Given the description of an element on the screen output the (x, y) to click on. 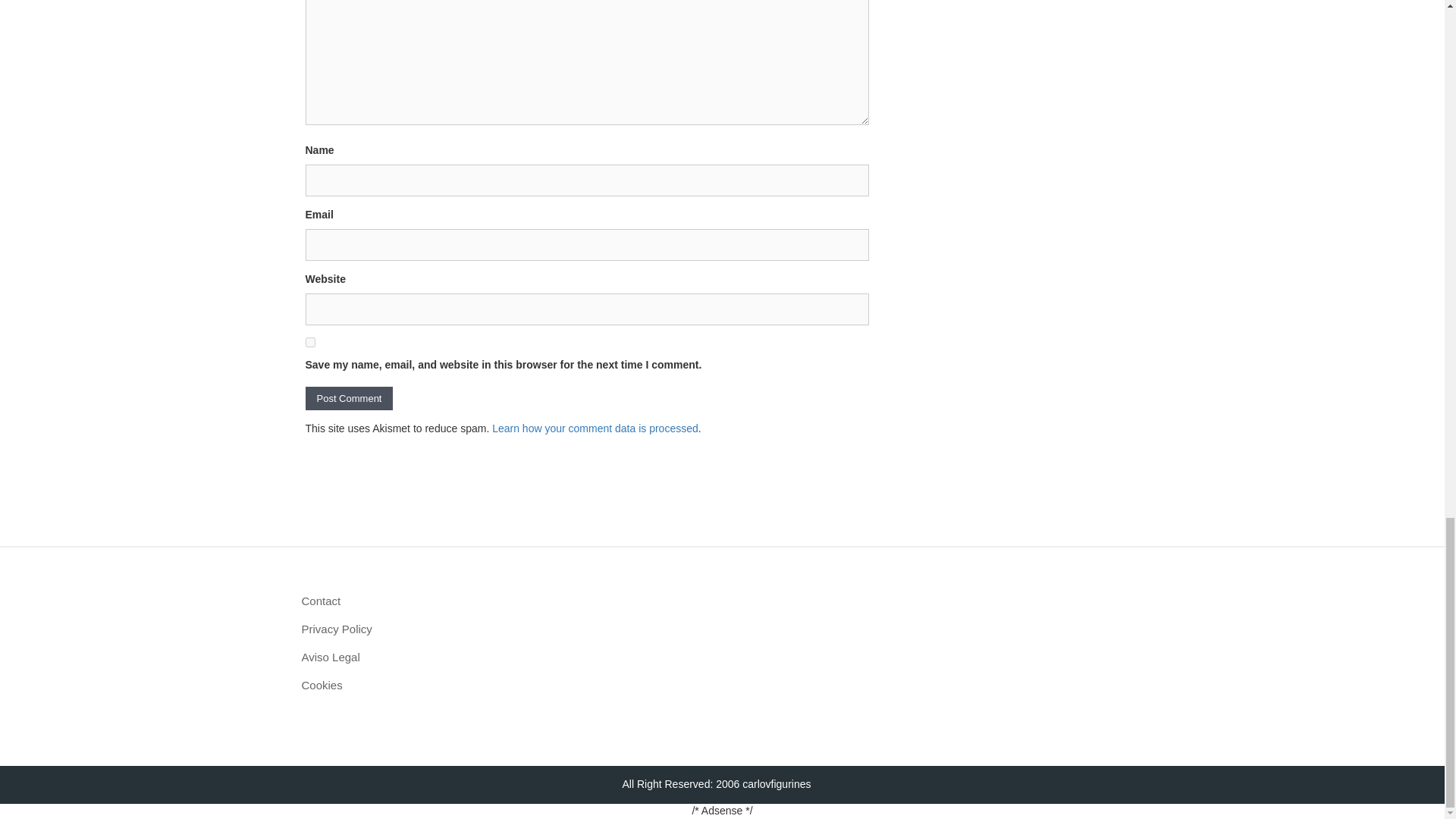
Cookies (434, 684)
yes (309, 342)
Contact (434, 600)
Learn how your comment data is processed (595, 428)
Post Comment (348, 398)
Aviso Legal (434, 657)
Privacy Policy (434, 628)
Post Comment (348, 398)
